Given the description of an element on the screen output the (x, y) to click on. 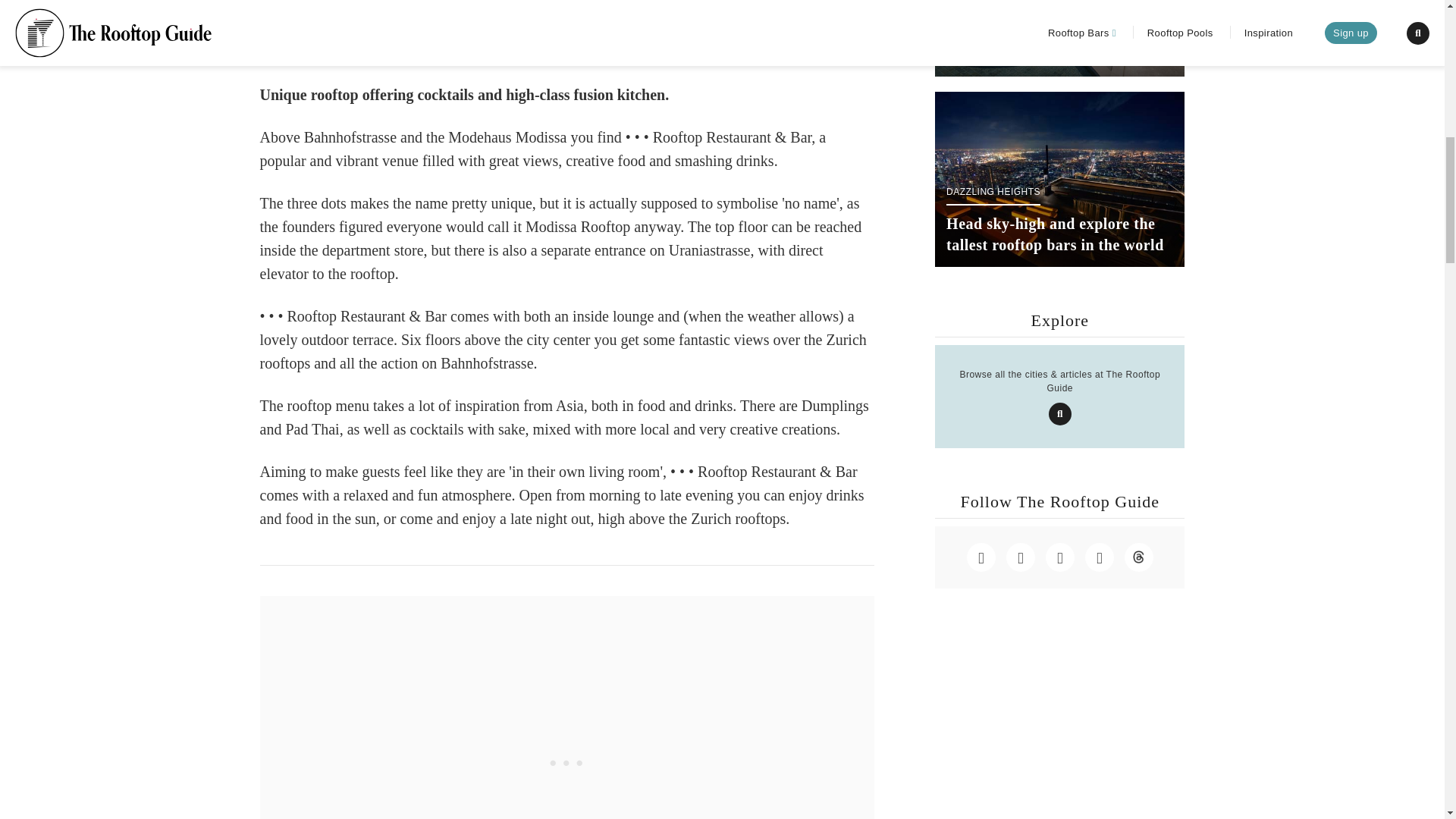
YouTube (1059, 556)
Threads (1138, 556)
Facebook (1020, 556)
Instagram (980, 556)
Pinterest (1098, 556)
